Given the description of an element on the screen output the (x, y) to click on. 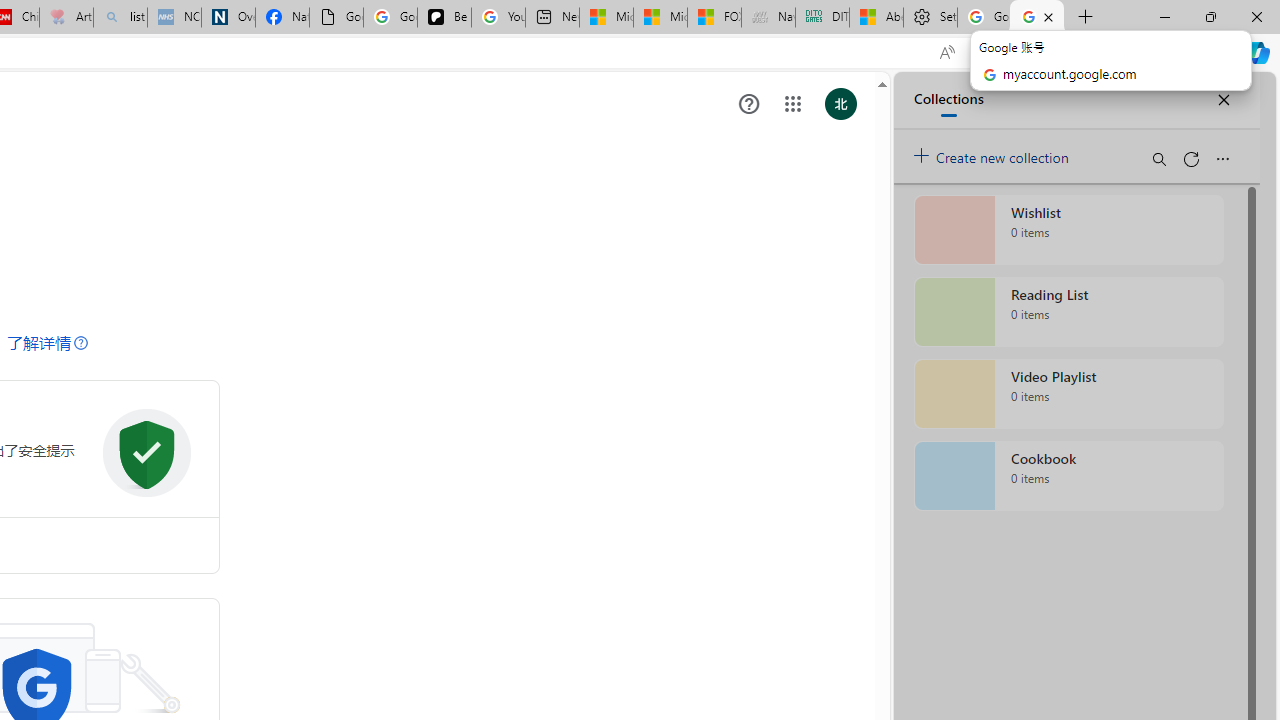
Aberdeen, Hong Kong SAR hourly forecast | Microsoft Weather (875, 17)
Class: gb_E (792, 103)
